Given the description of an element on the screen output the (x, y) to click on. 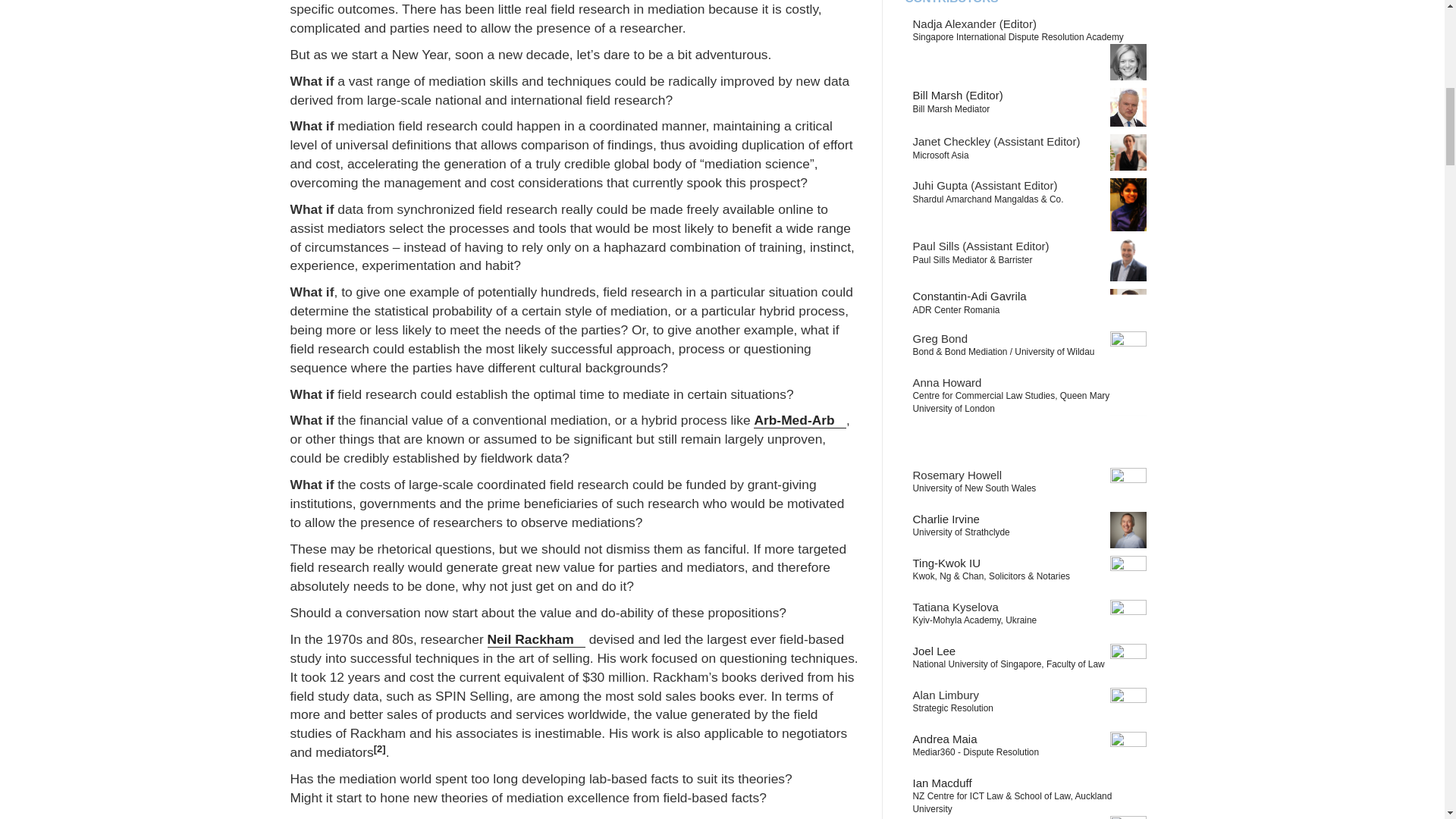
Arb-Med-Arb (799, 420)
Recent Posts from Constantin-Adi Gavrila (1128, 305)
More about Constantin-Adi Gavrila (969, 295)
Visit Constantin-Adi Gavrila's Company Website (956, 309)
Neil Rackham (536, 639)
